Given the description of an element on the screen output the (x, y) to click on. 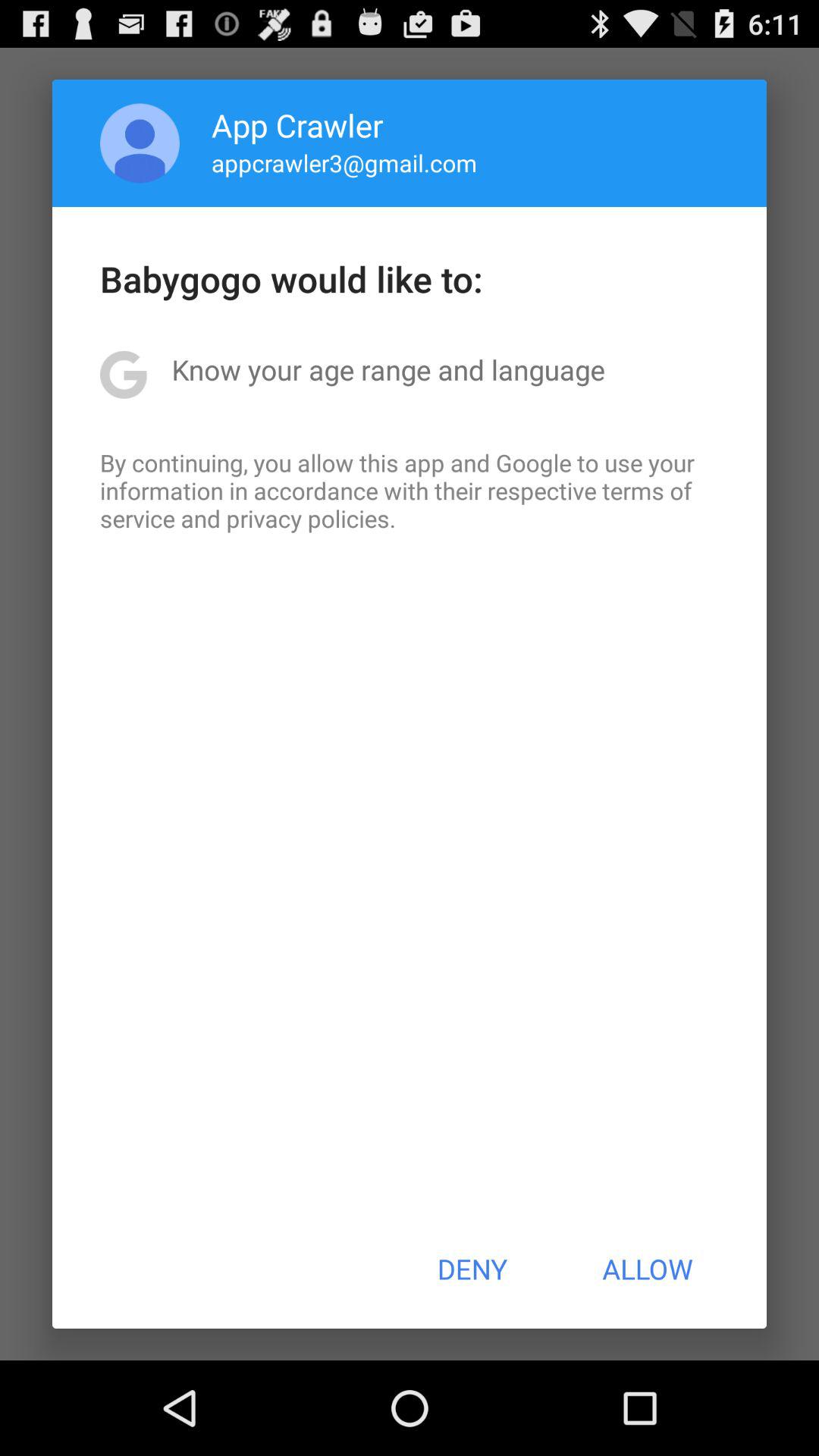
choose item above the babygogo would like item (344, 162)
